Given the description of an element on the screen output the (x, y) to click on. 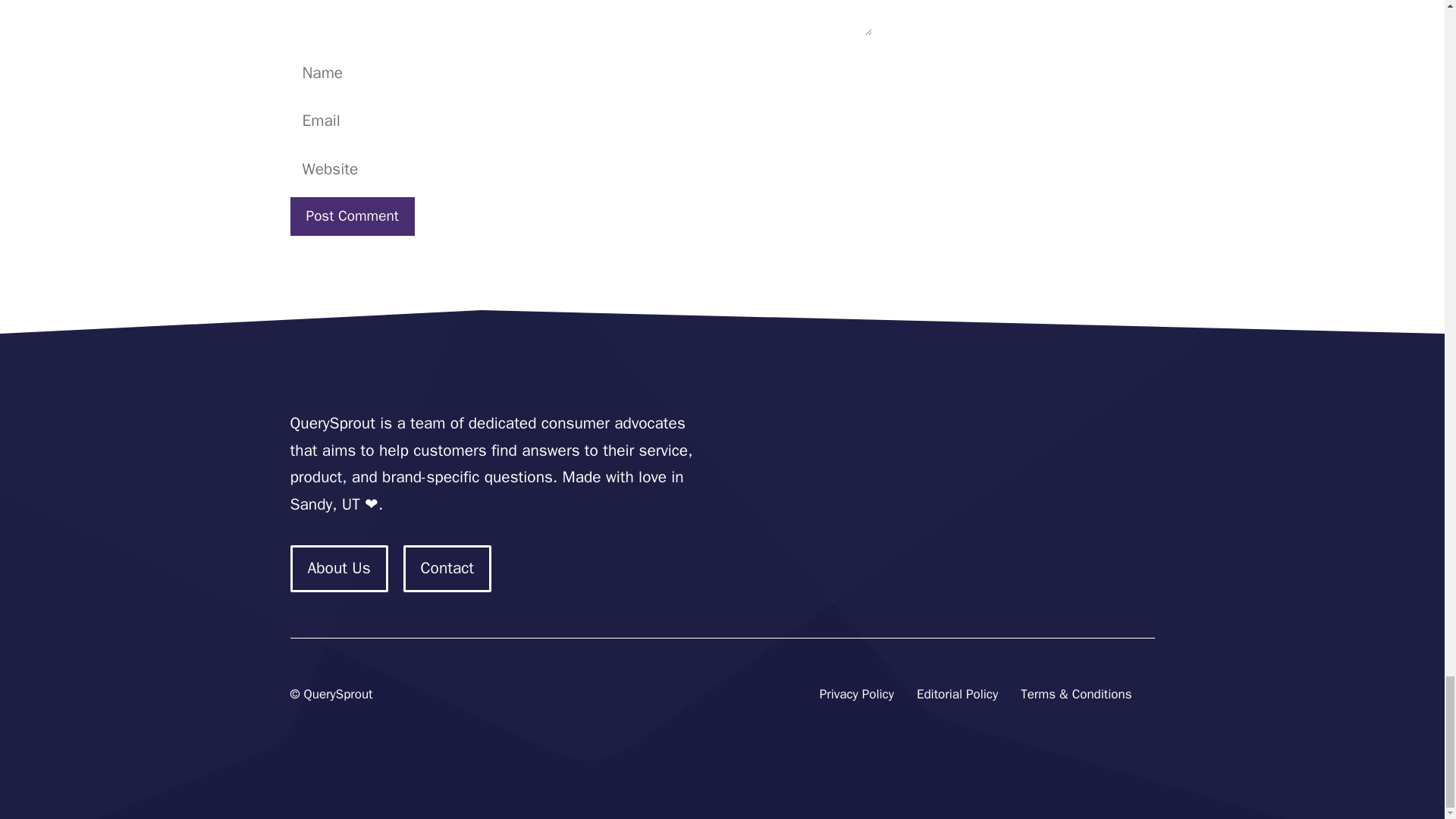
Contact (447, 568)
Post Comment (351, 216)
Privacy Policy (856, 694)
Editorial Policy (957, 694)
About Us (338, 568)
Post Comment (351, 216)
